Given the description of an element on the screen output the (x, y) to click on. 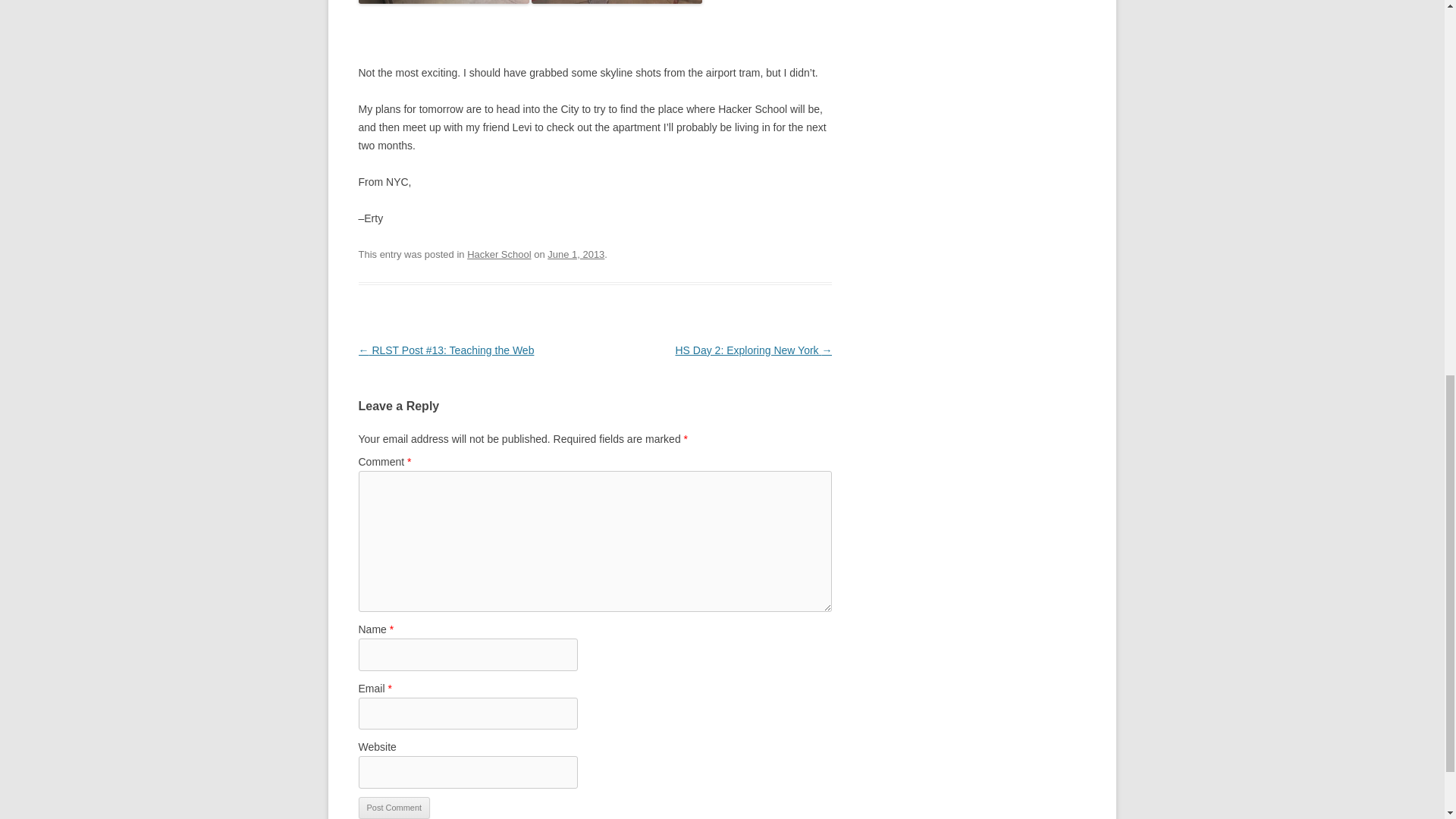
June 1, 2013 (575, 254)
Hacker School (499, 254)
9:55 pm (575, 254)
